Given the description of an element on the screen output the (x, y) to click on. 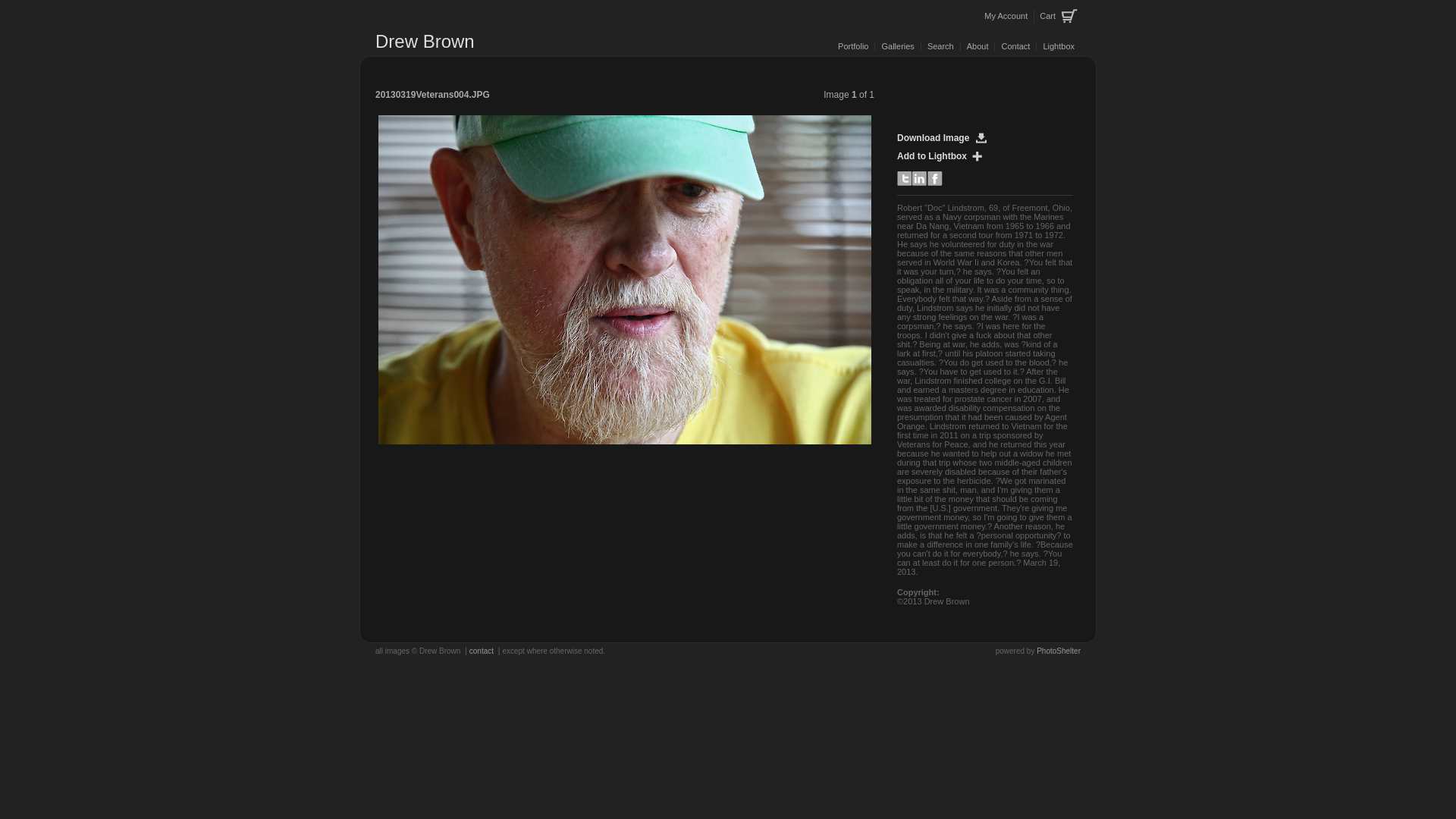
Cart (1058, 17)
My Account (1005, 15)
Cart (1058, 17)
Drew Brown (424, 41)
Search (940, 45)
Portfolio (852, 45)
Download Image (945, 138)
About (977, 45)
Galleries (897, 45)
Lightbox (1058, 45)
